Given the description of an element on the screen output the (x, y) to click on. 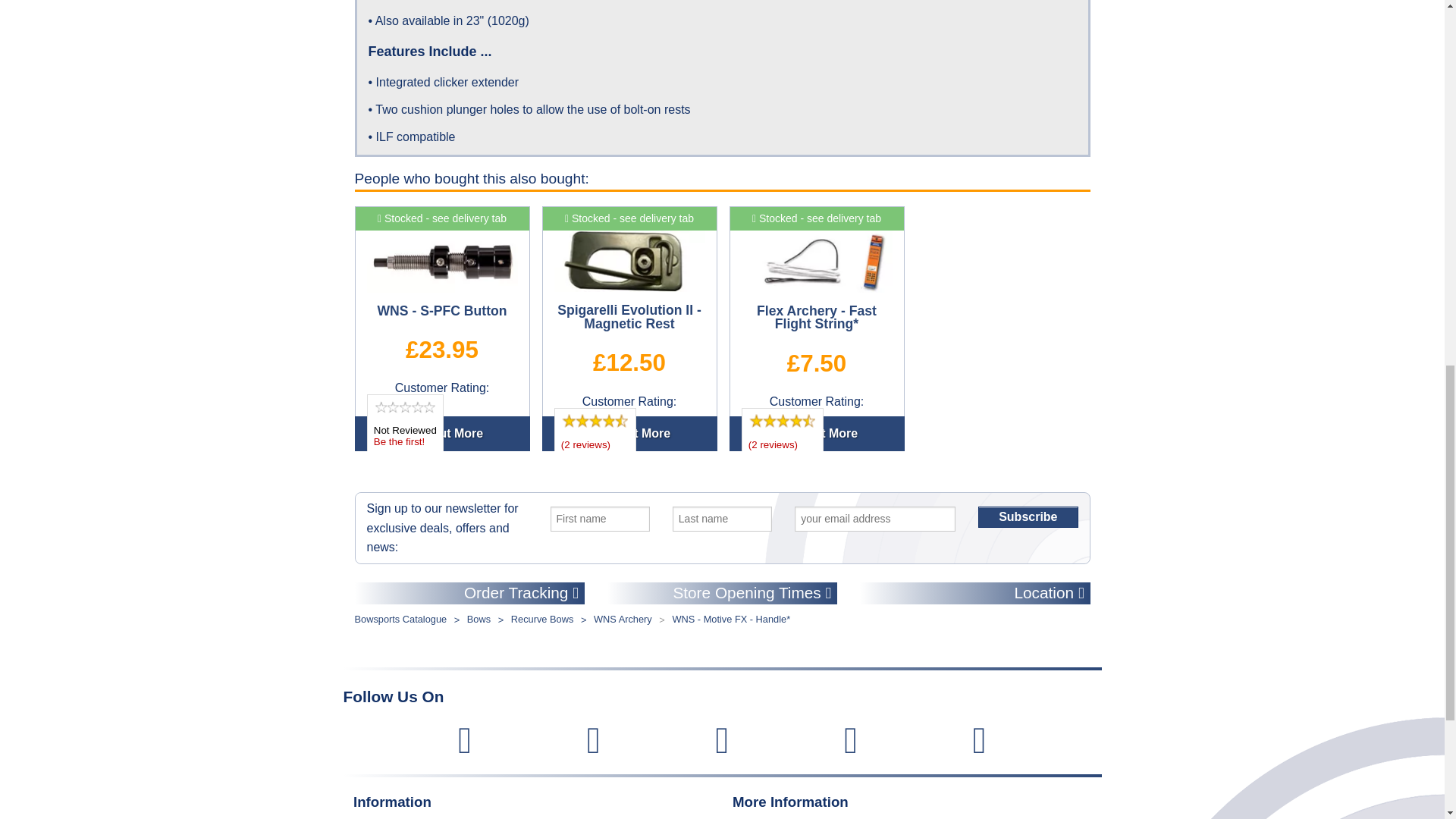
Store Opening Times (722, 593)
Subscribe (1027, 516)
Location (974, 593)
Order Tracking (470, 593)
WNS - S-PFC Button (442, 260)
Spigarelli Evolution II - Magnetic Rest (628, 260)
